Given the description of an element on the screen output the (x, y) to click on. 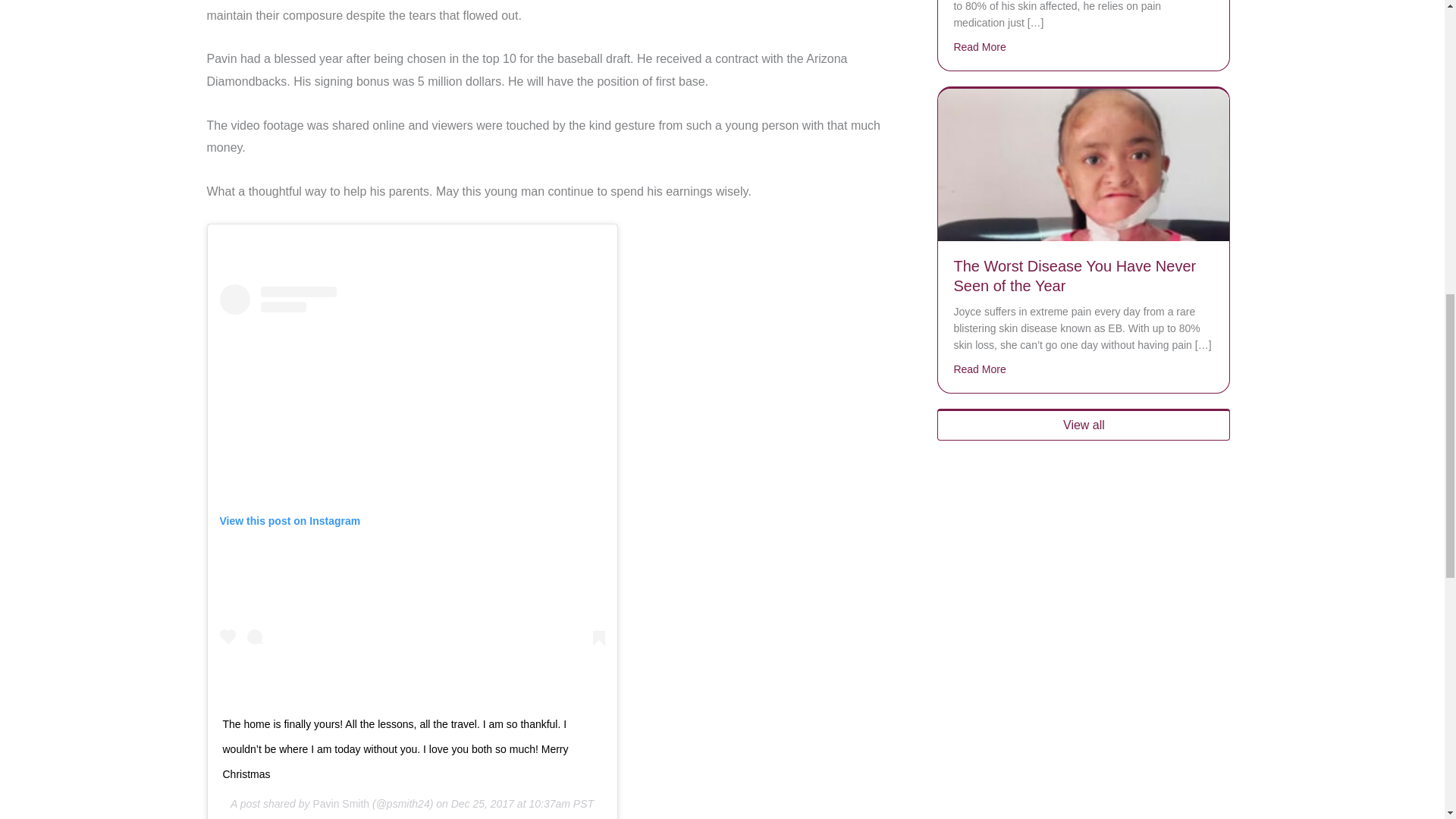
Read More (979, 369)
The Worst Disease You Have Never Seen of the Year (1074, 275)
Read More (979, 46)
View all (1083, 424)
Pavin Smith (341, 803)
The Worst Disease You Have Never Seen of the Year (1082, 164)
